Given the description of an element on the screen output the (x, y) to click on. 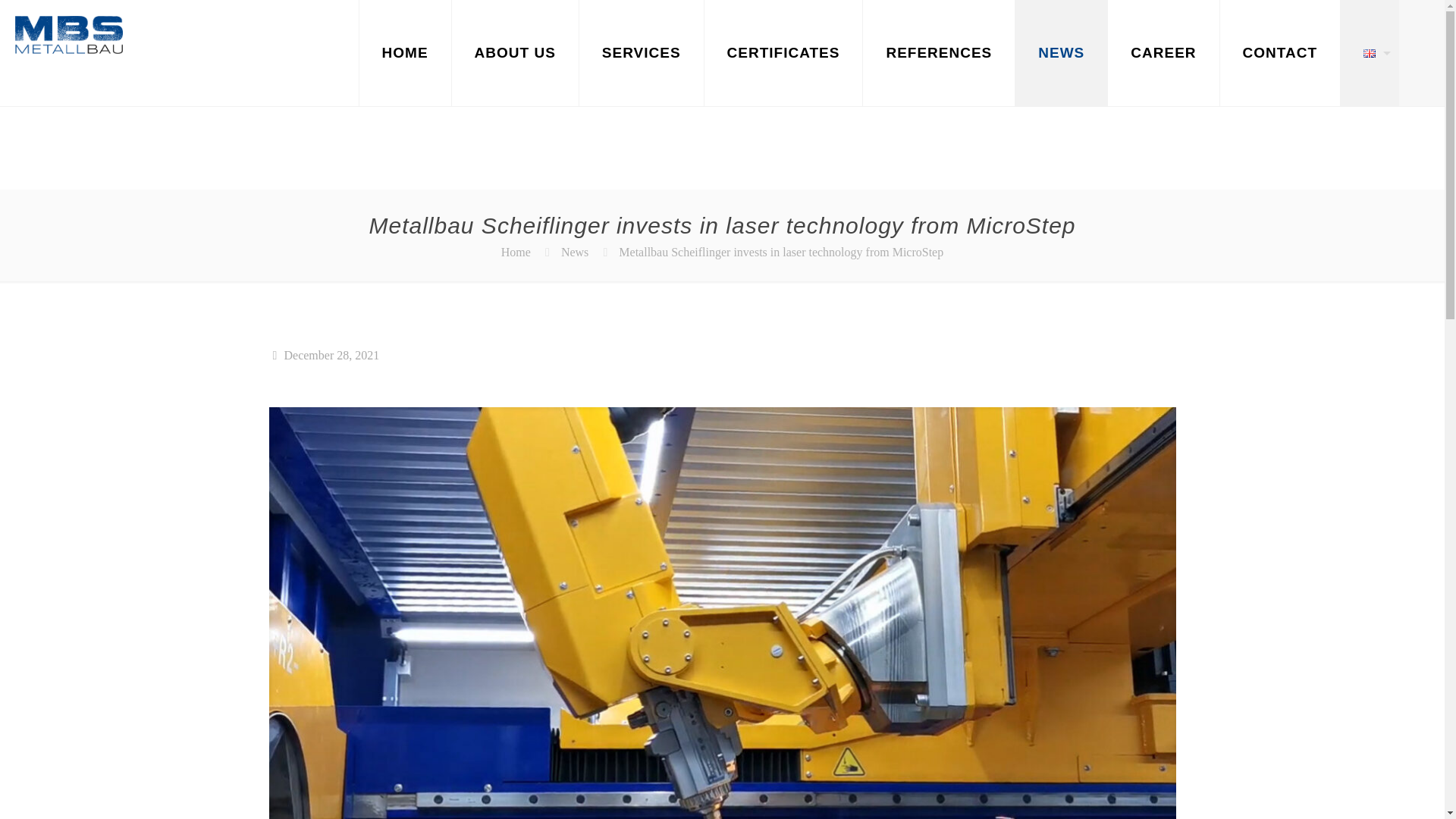
News (574, 251)
CERTIFICATES (783, 53)
SERVICES (641, 53)
CONTACT (1280, 53)
ABOUT US (515, 53)
HOME (404, 53)
MBS Metallbau Srbija (68, 33)
Home (515, 251)
REFERENCES (938, 53)
CAREER (1164, 53)
NEWS (1061, 53)
